Given the description of an element on the screen output the (x, y) to click on. 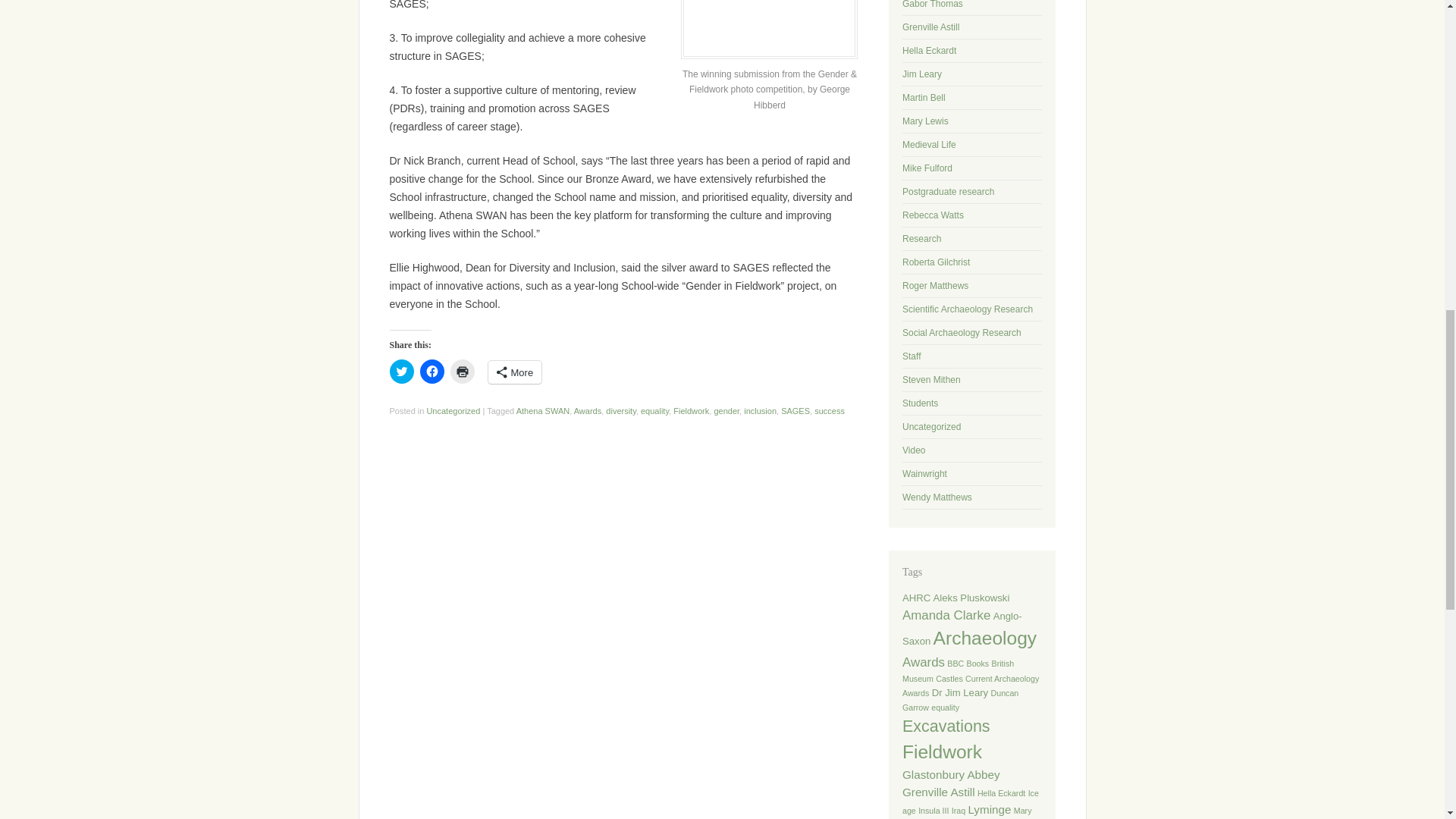
SAGES (794, 410)
diversity (620, 410)
Grenville Astill (930, 27)
success (828, 410)
Gabor Thomas (932, 4)
Uncategorized (453, 410)
inclusion (760, 410)
Athena SWAN (543, 410)
Click to share on Twitter (401, 371)
Awards (587, 410)
